Given the description of an element on the screen output the (x, y) to click on. 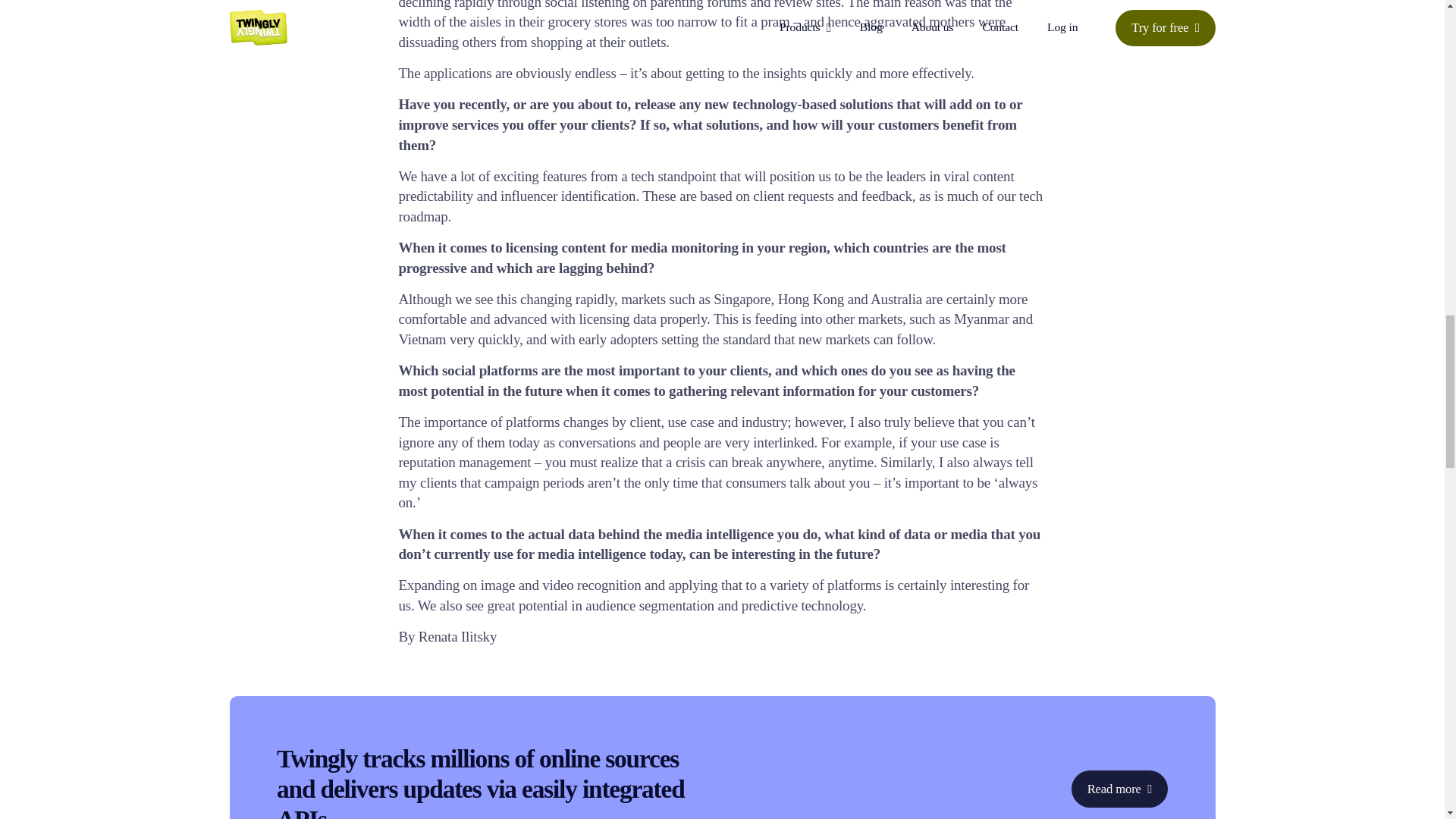
Read more (1119, 788)
